Given the description of an element on the screen output the (x, y) to click on. 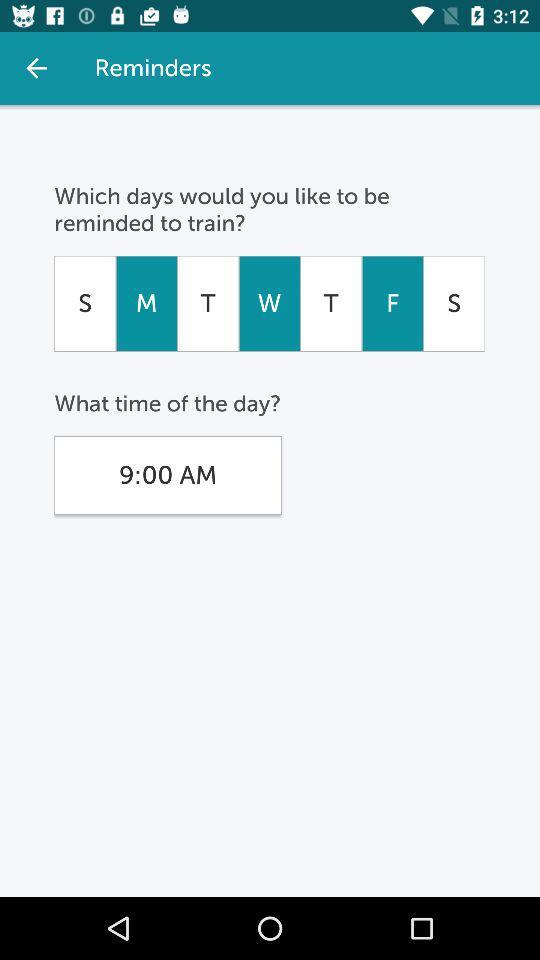
press icon below the which days would (146, 303)
